Given the description of an element on the screen output the (x, y) to click on. 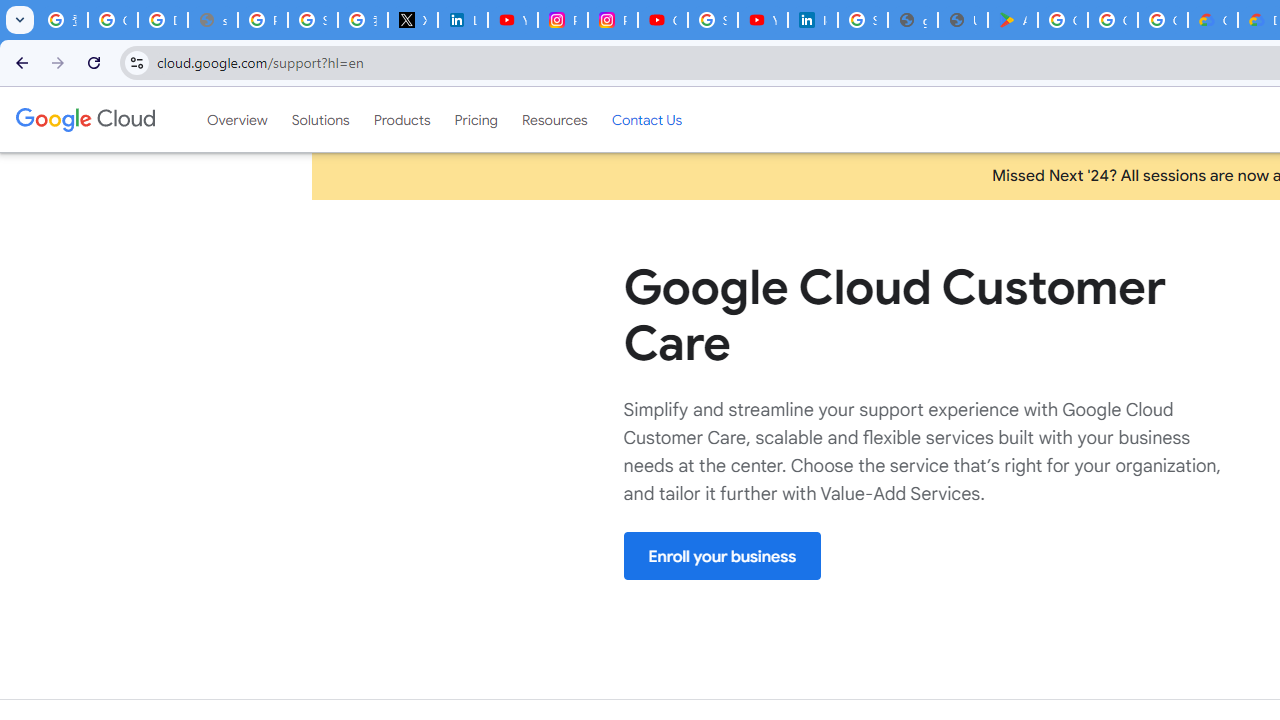
Contact Us (646, 119)
YouTube Content Monetization Policies - How YouTube Works (512, 20)
Android Apps on Google Play (1013, 20)
X (412, 20)
Sign in - Google Accounts (863, 20)
